Given the description of an element on the screen output the (x, y) to click on. 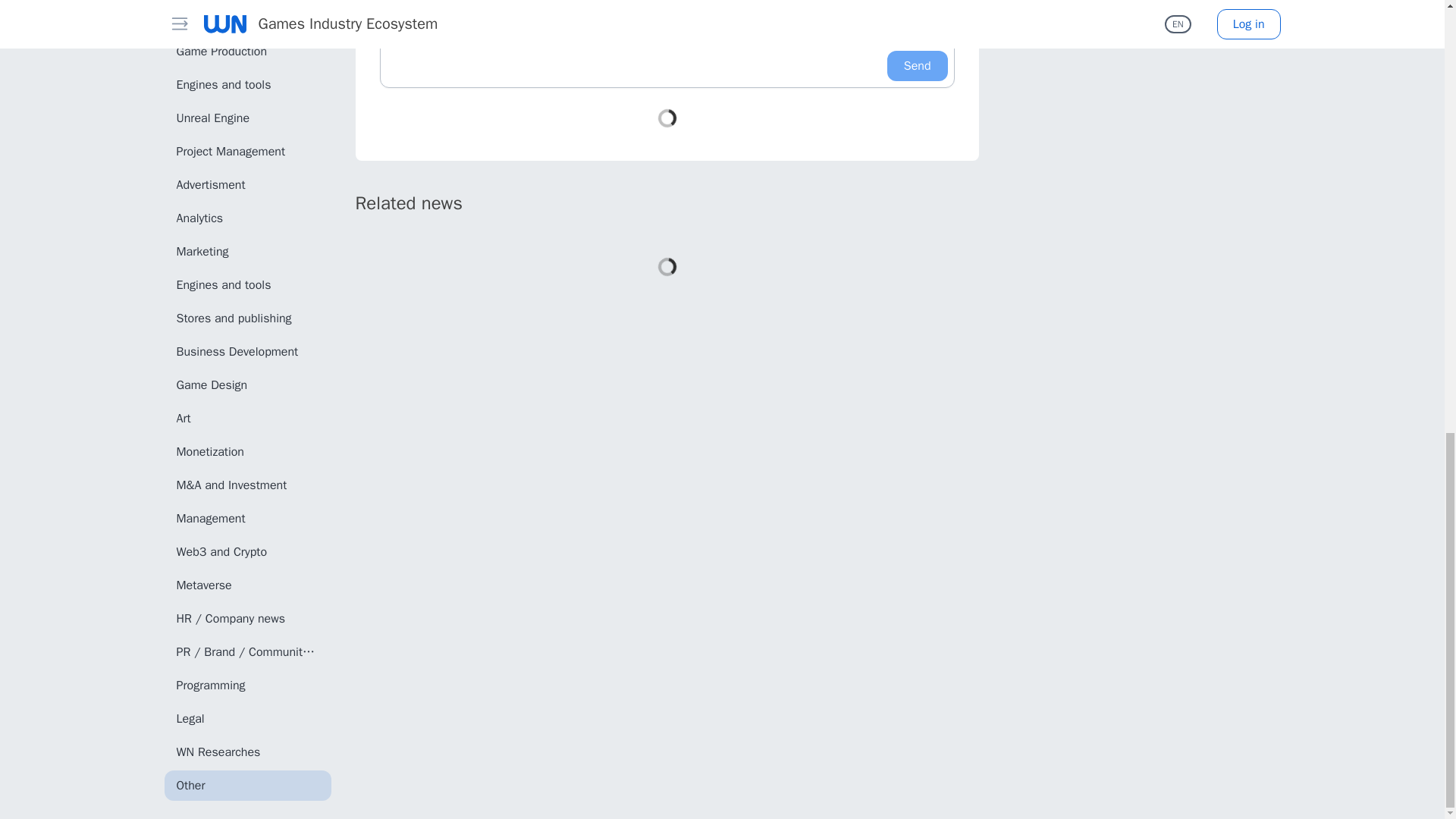
Game Production (246, 51)
Distribution (246, 18)
Analytics (246, 218)
Engines and tools (246, 84)
Marketing (246, 251)
Advertisment (246, 184)
Project Management (246, 151)
Unreal Engine (246, 118)
